Given the description of an element on the screen output the (x, y) to click on. 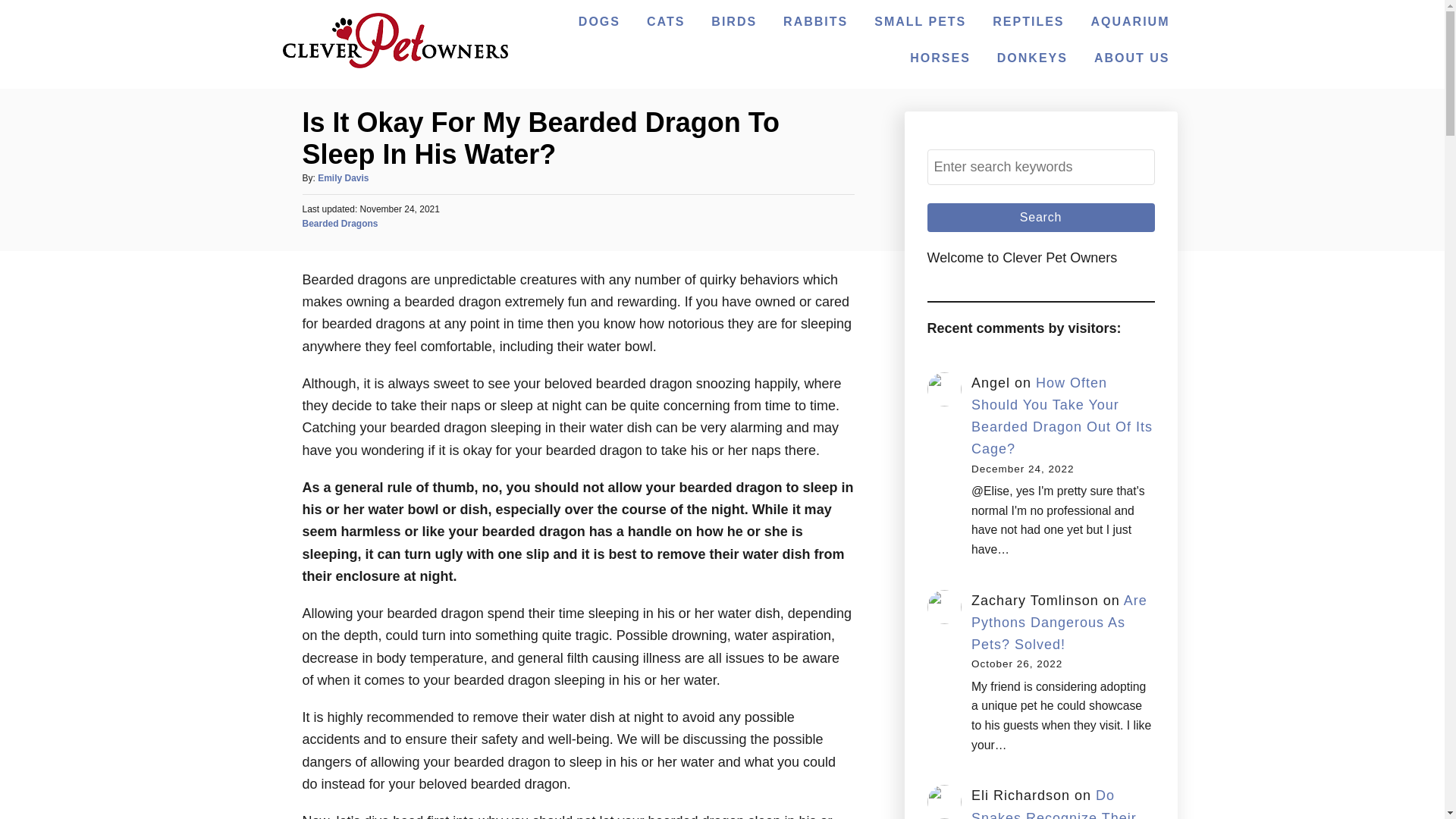
HORSES (940, 58)
BIRDS (733, 21)
AQUARIUM (1129, 21)
Search (1040, 217)
DONKEYS (1032, 58)
Emily Davis (342, 177)
RABBITS (816, 21)
Bearded Dragons (339, 223)
Clever Pet Owners (394, 63)
CATS (666, 21)
